Given the description of an element on the screen output the (x, y) to click on. 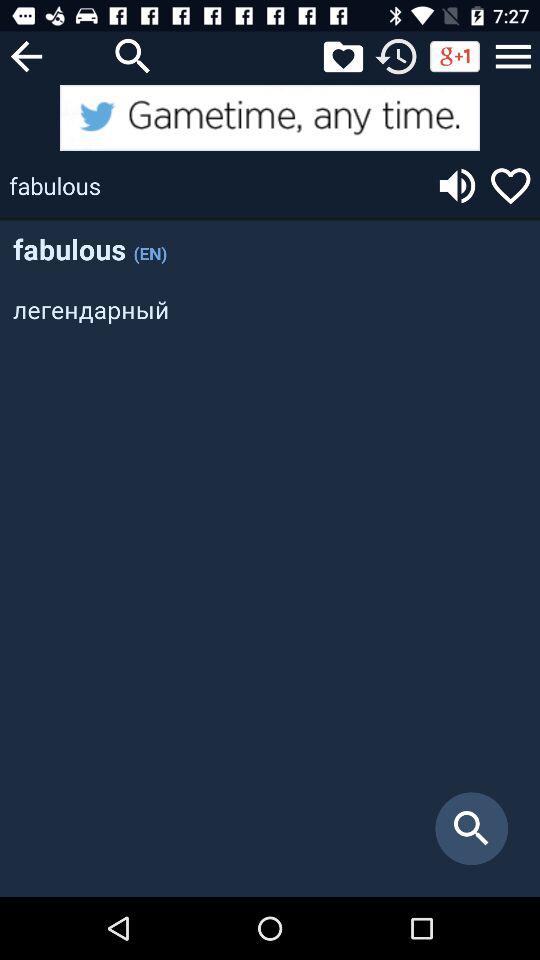
speak the word (457, 185)
